Given the description of an element on the screen output the (x, y) to click on. 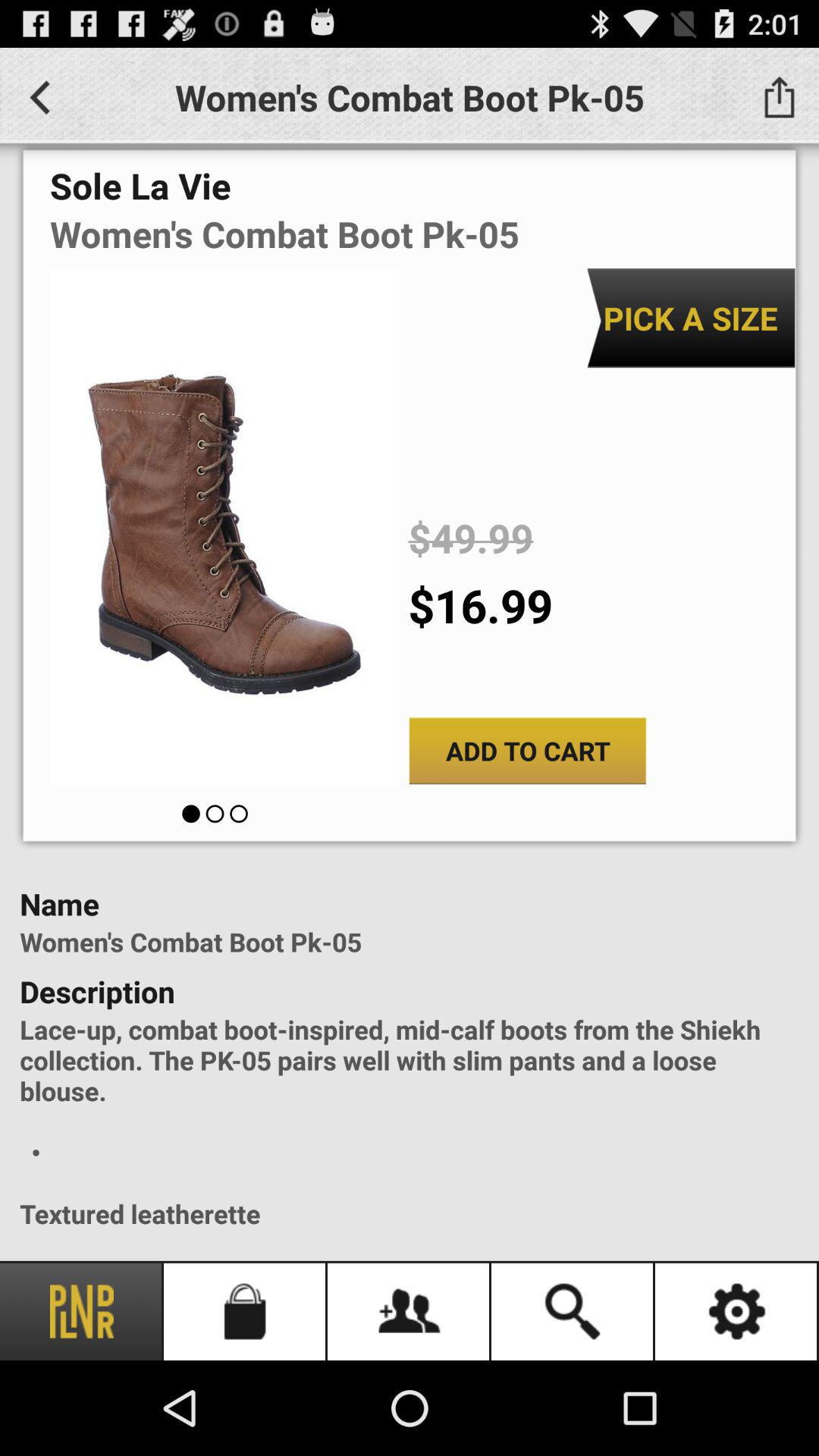
open add to cart icon (527, 751)
